Given the description of an element on the screen output the (x, y) to click on. 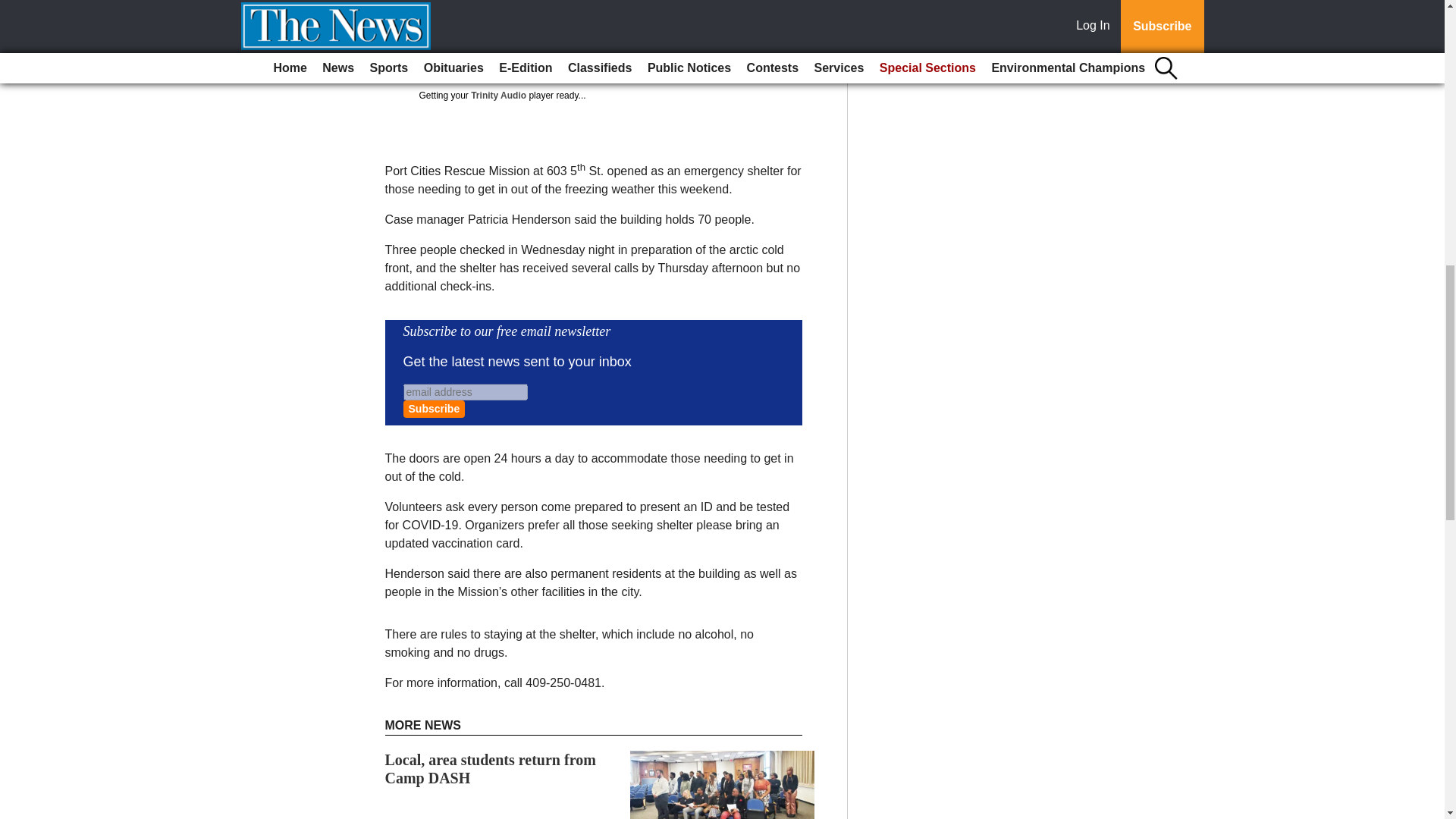
Trinity Audio (497, 95)
Local, area students return from Camp DASH (490, 768)
Subscribe (434, 408)
Local, area students return from Camp DASH (490, 768)
Subscribe (434, 408)
